Given the description of an element on the screen output the (x, y) to click on. 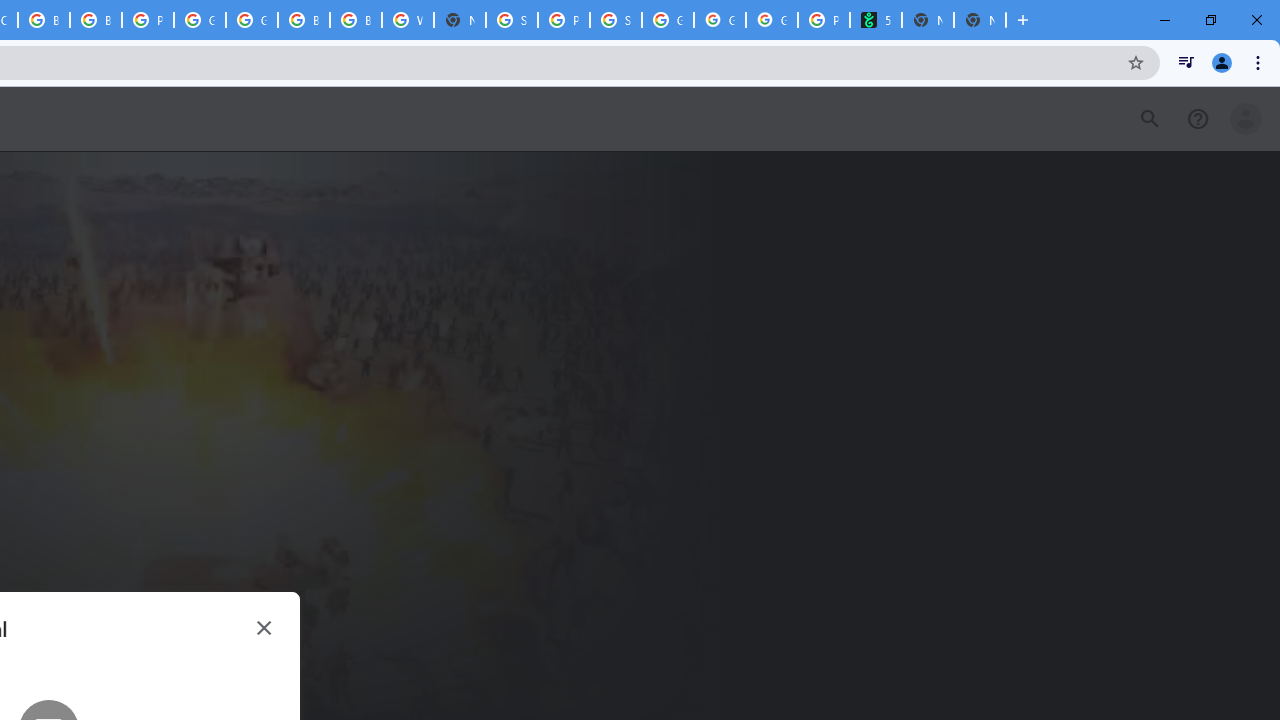
Sign in - Google Accounts (511, 20)
Browse Chrome as a guest - Computer - Google Chrome Help (303, 20)
Google Cloud Platform (251, 20)
New Tab (979, 20)
Google Cloud Platform (200, 20)
